Given the description of an element on the screen output the (x, y) to click on. 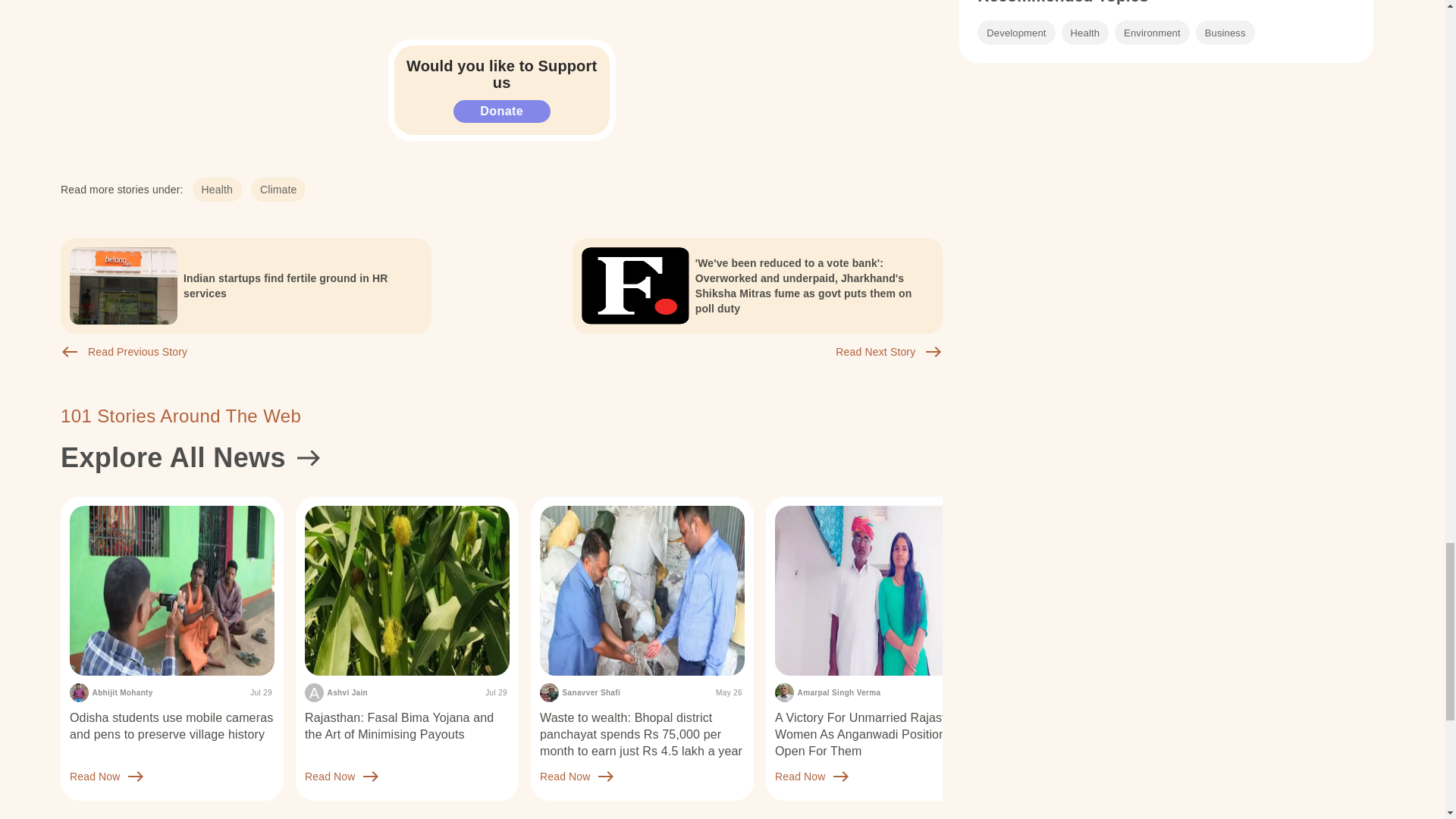
Business (1225, 32)
Donate (501, 110)
Explore All News (501, 457)
Environment (1152, 32)
Development (1015, 32)
Health (1084, 32)
